Given the description of an element on the screen output the (x, y) to click on. 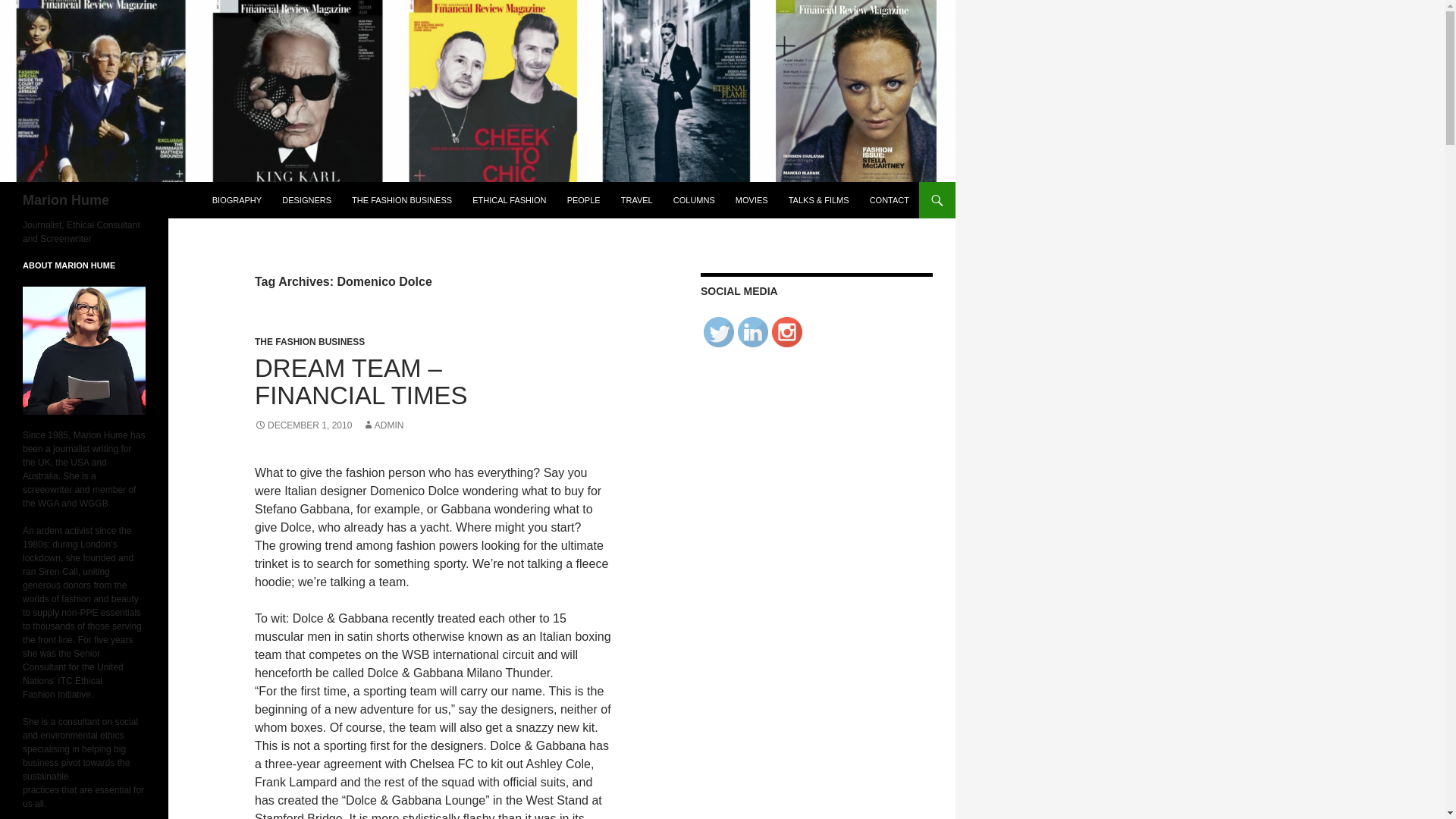
MOVIES (751, 199)
ADMIN (383, 425)
DECEMBER 1, 2010 (303, 425)
PEOPLE (583, 199)
BIOGRAPHY (236, 199)
LinkedIn (753, 331)
Marion Hume (66, 199)
THE FASHION BUSINESS (309, 341)
COLUMNS (693, 199)
